Given the description of an element on the screen output the (x, y) to click on. 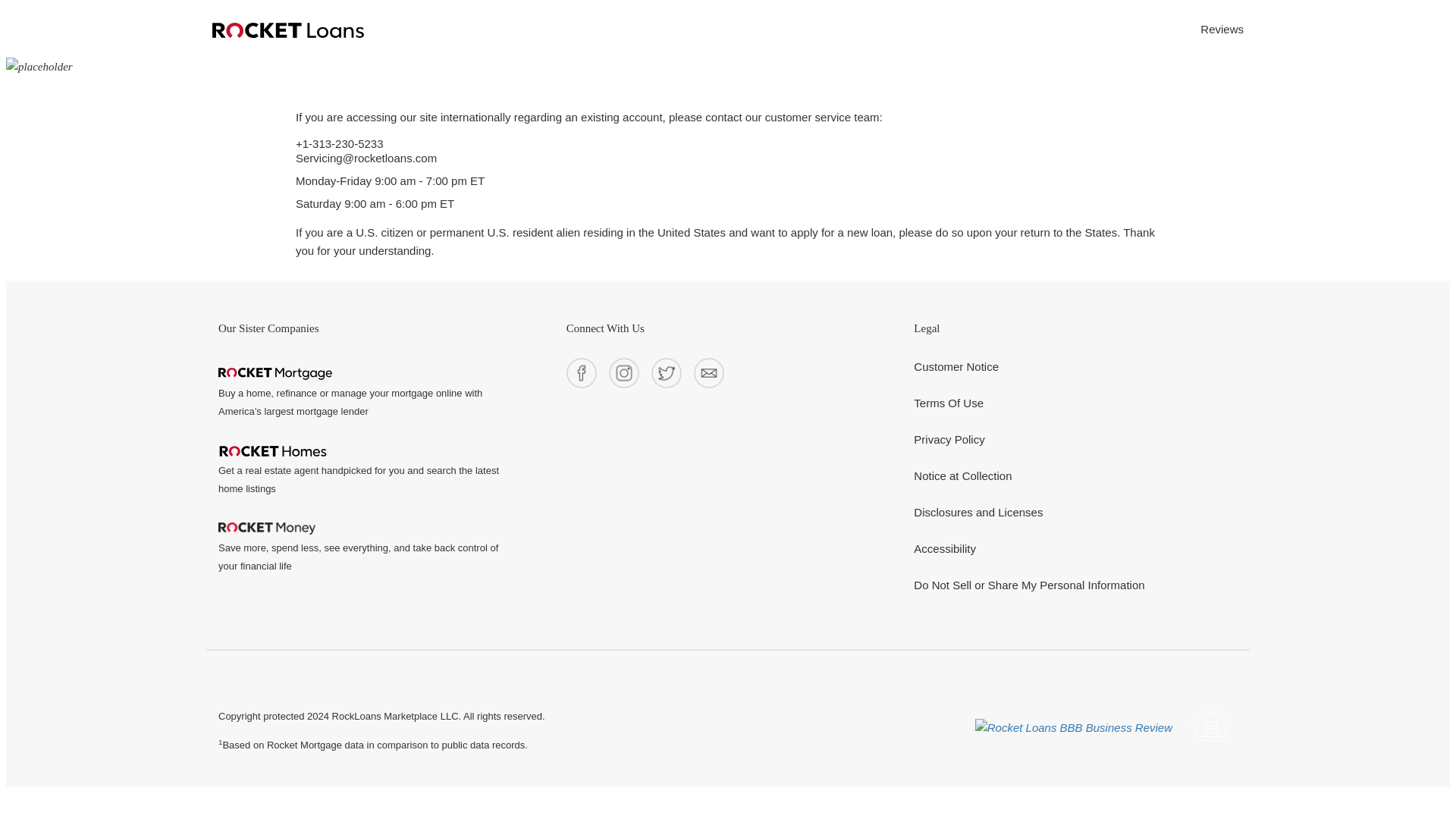
Rocket Money (266, 528)
Rocket Homes (272, 451)
Rocket Loans BBB Business Review (1073, 728)
Rocket Mortgage (274, 373)
Equal Housing (1211, 727)
Disclosures and Licenses (978, 512)
Do Not Sell or Share My Personal Information (1029, 585)
Terms Of Use (949, 403)
Customer Notice (956, 366)
Notice at Collection (962, 476)
Privacy Policy (949, 439)
Reviews (1221, 29)
Accessibility (944, 549)
